Given the description of an element on the screen output the (x, y) to click on. 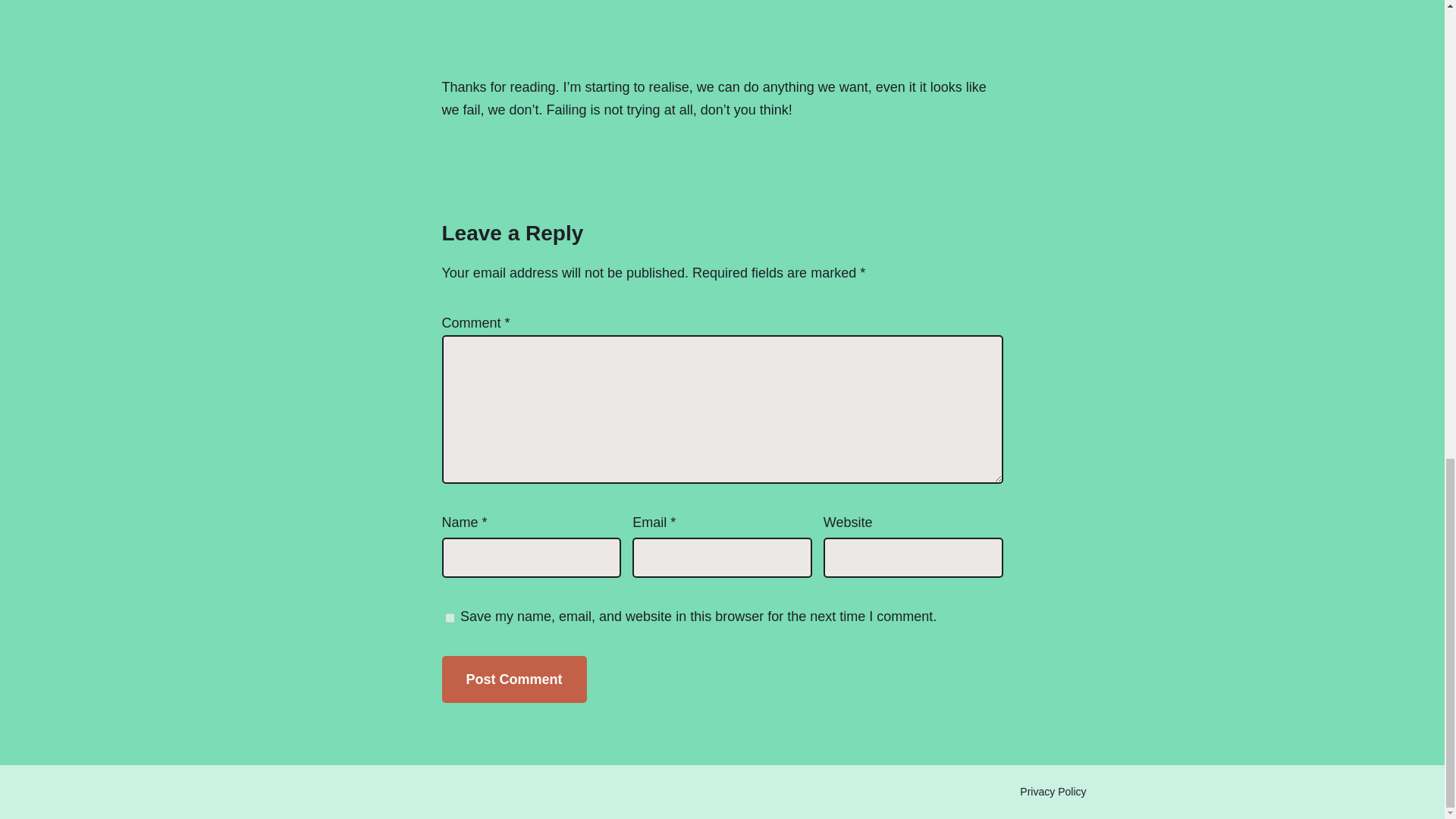
Post Comment (513, 679)
Privacy Policy (1053, 791)
Post Comment (513, 679)
